Given the description of an element on the screen output the (x, y) to click on. 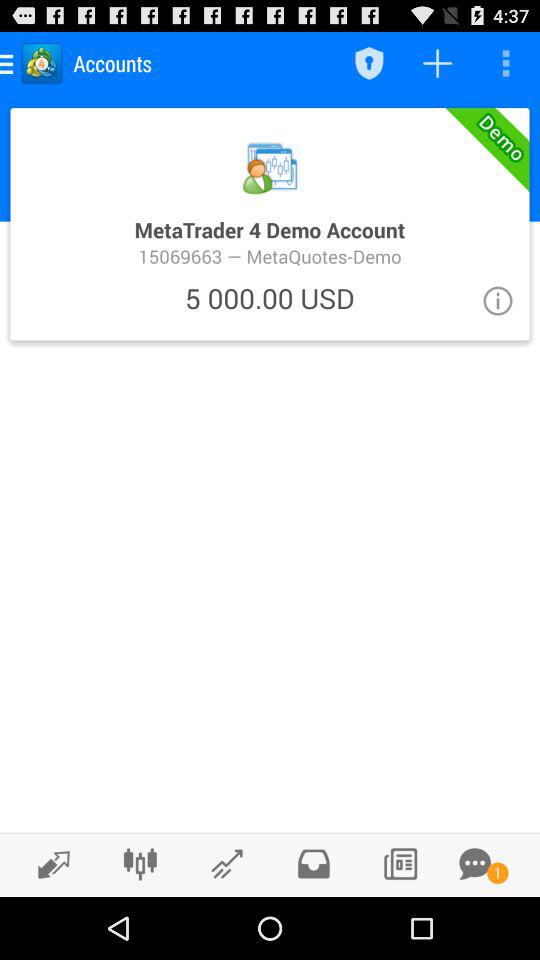
new trades (48, 864)
